Given the description of an element on the screen output the (x, y) to click on. 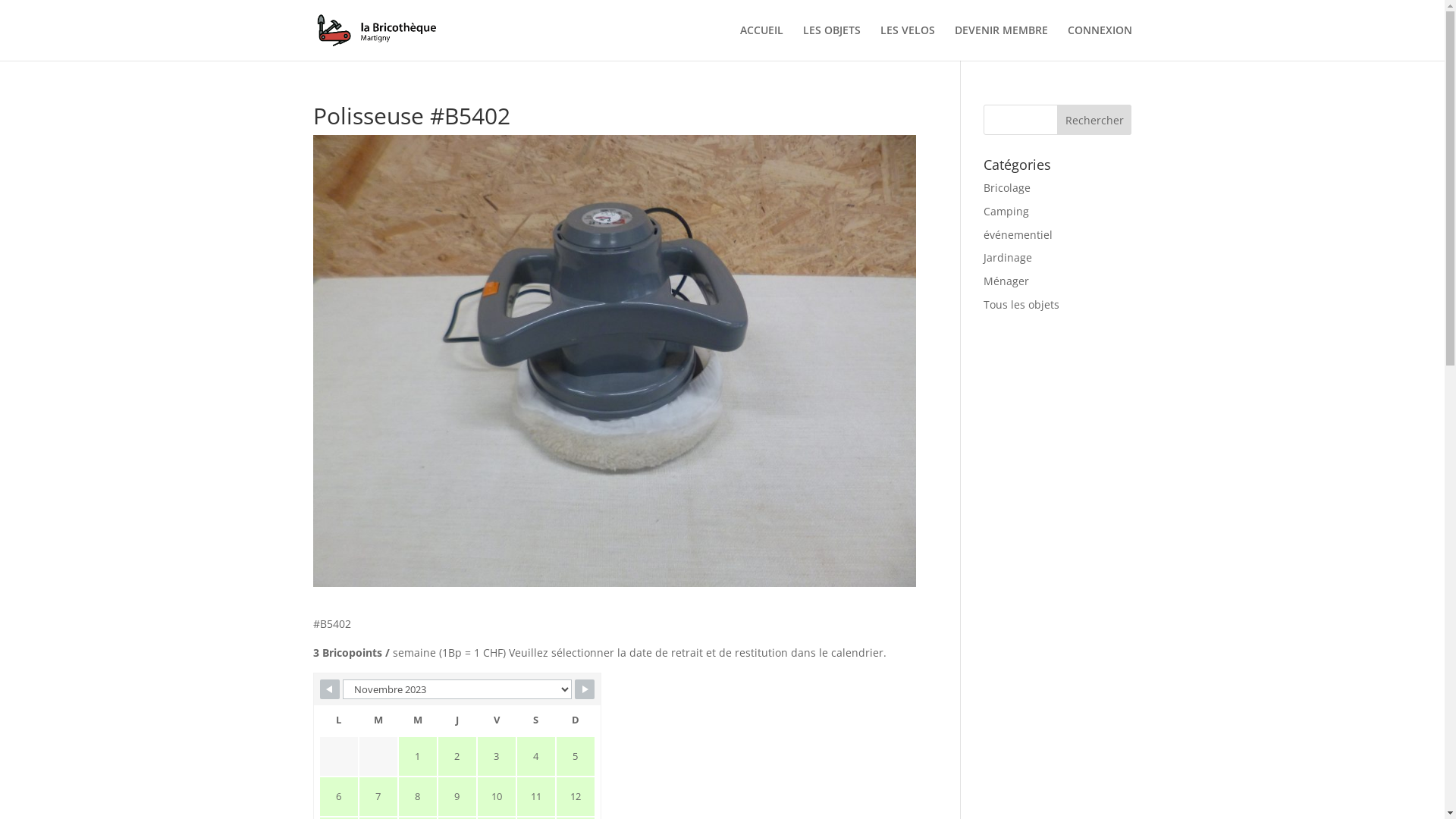
Jardinage Element type: text (1007, 257)
Camping Element type: text (1006, 210)
Tous les objets Element type: text (1021, 304)
LES OBJETS Element type: text (830, 42)
ACCUEIL Element type: text (761, 42)
DEVENIR MEMBRE Element type: text (1000, 42)
Rechercher Element type: text (1094, 119)
Bricolage Element type: text (1006, 187)
LES VELOS Element type: text (906, 42)
CONNEXION Element type: text (1099, 42)
